Given the description of an element on the screen output the (x, y) to click on. 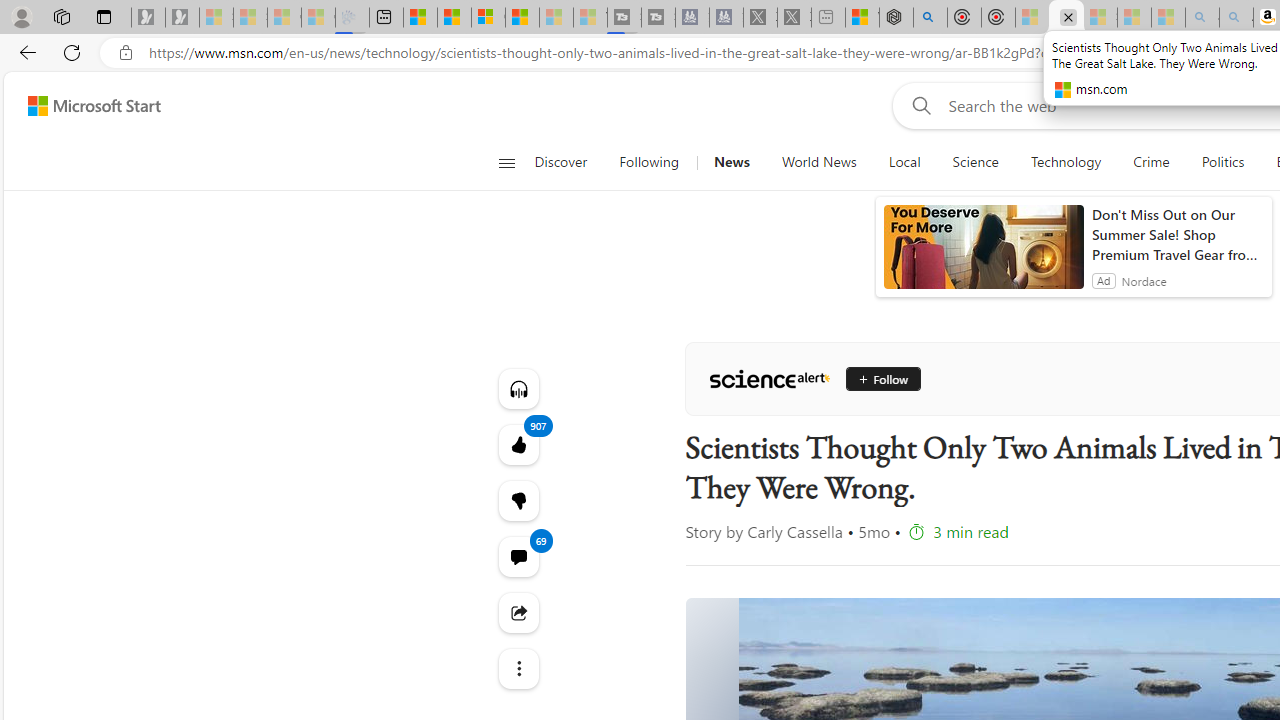
View comments 69 Comment (517, 556)
Listen to this article (517, 388)
ScienceAlert (769, 378)
Technology (1065, 162)
anim-content (983, 255)
Microsoft Start - Sleeping (556, 17)
World News (818, 162)
Technology (1066, 162)
